Given the description of an element on the screen output the (x, y) to click on. 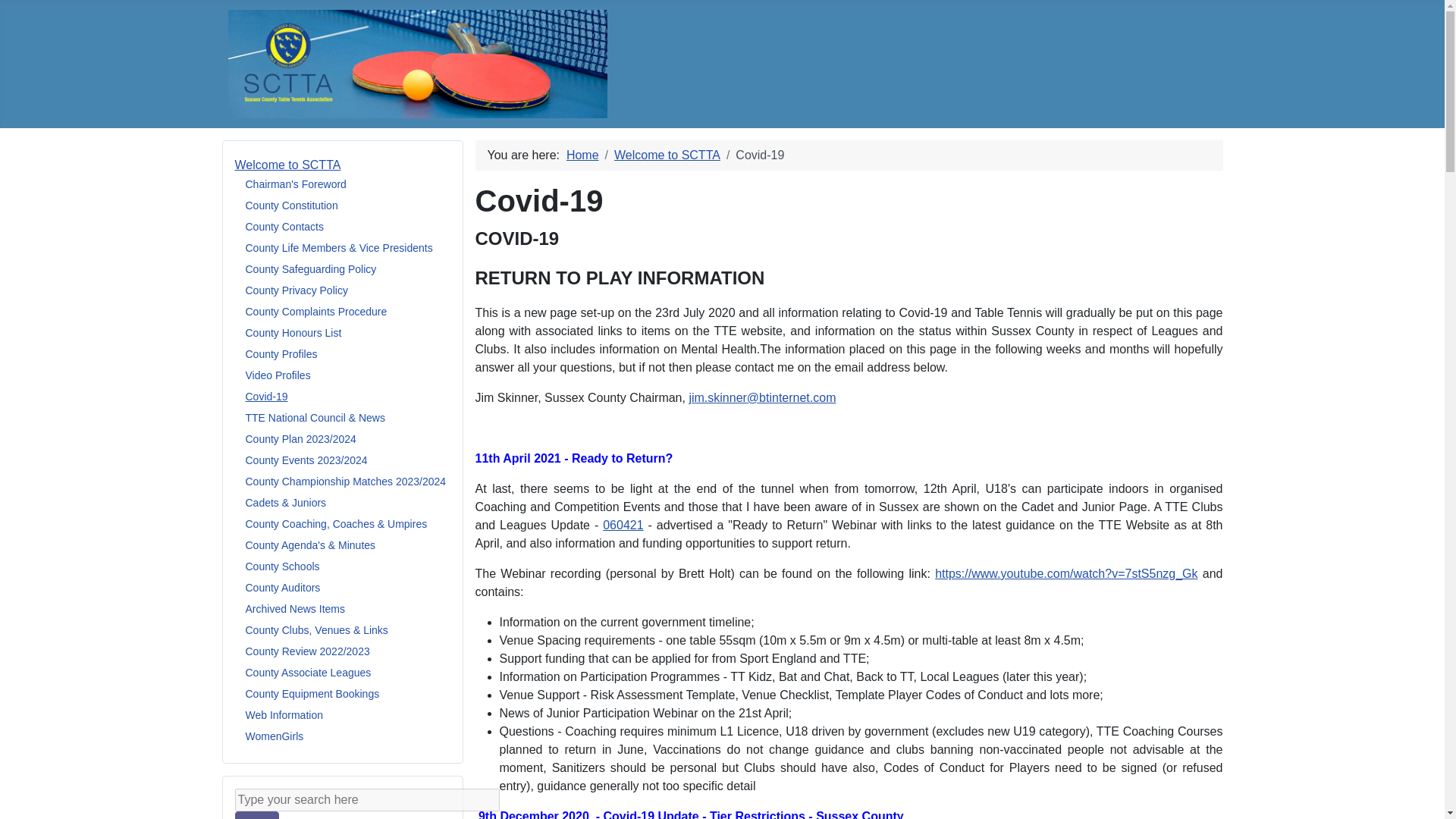
Welcome to SCTTA (287, 164)
County Privacy Policy (296, 290)
County Equipment Bookings (313, 693)
060421 (622, 524)
Covid-19 (267, 396)
Archived News Items (295, 608)
Home (582, 154)
Web Information (284, 715)
GO (256, 815)
County Constitution (291, 205)
County Schools (283, 566)
County Associate Leagues (308, 672)
Video Profiles (278, 375)
County Honours List (294, 332)
County Auditors (283, 587)
